Given the description of an element on the screen output the (x, y) to click on. 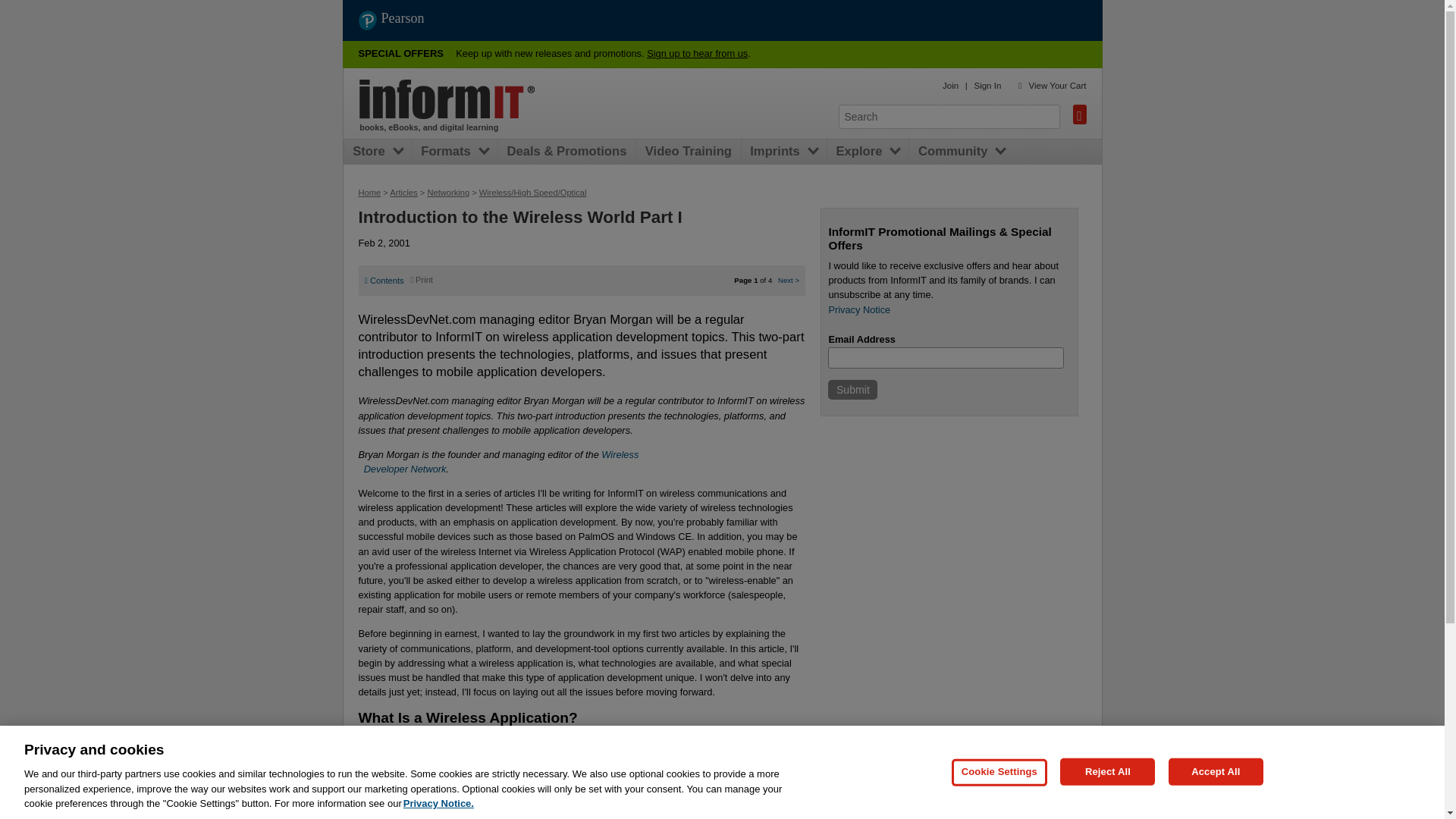
Sign up to hear from us (697, 52)
Privacy Notice (858, 309)
Store (372, 151)
View Your Cart (1057, 85)
Home (369, 192)
Submit (852, 389)
Networking (447, 192)
Articles (403, 192)
Print (421, 279)
Submit (852, 389)
Join (950, 85)
Sign In (499, 461)
Home (987, 85)
